Given the description of an element on the screen output the (x, y) to click on. 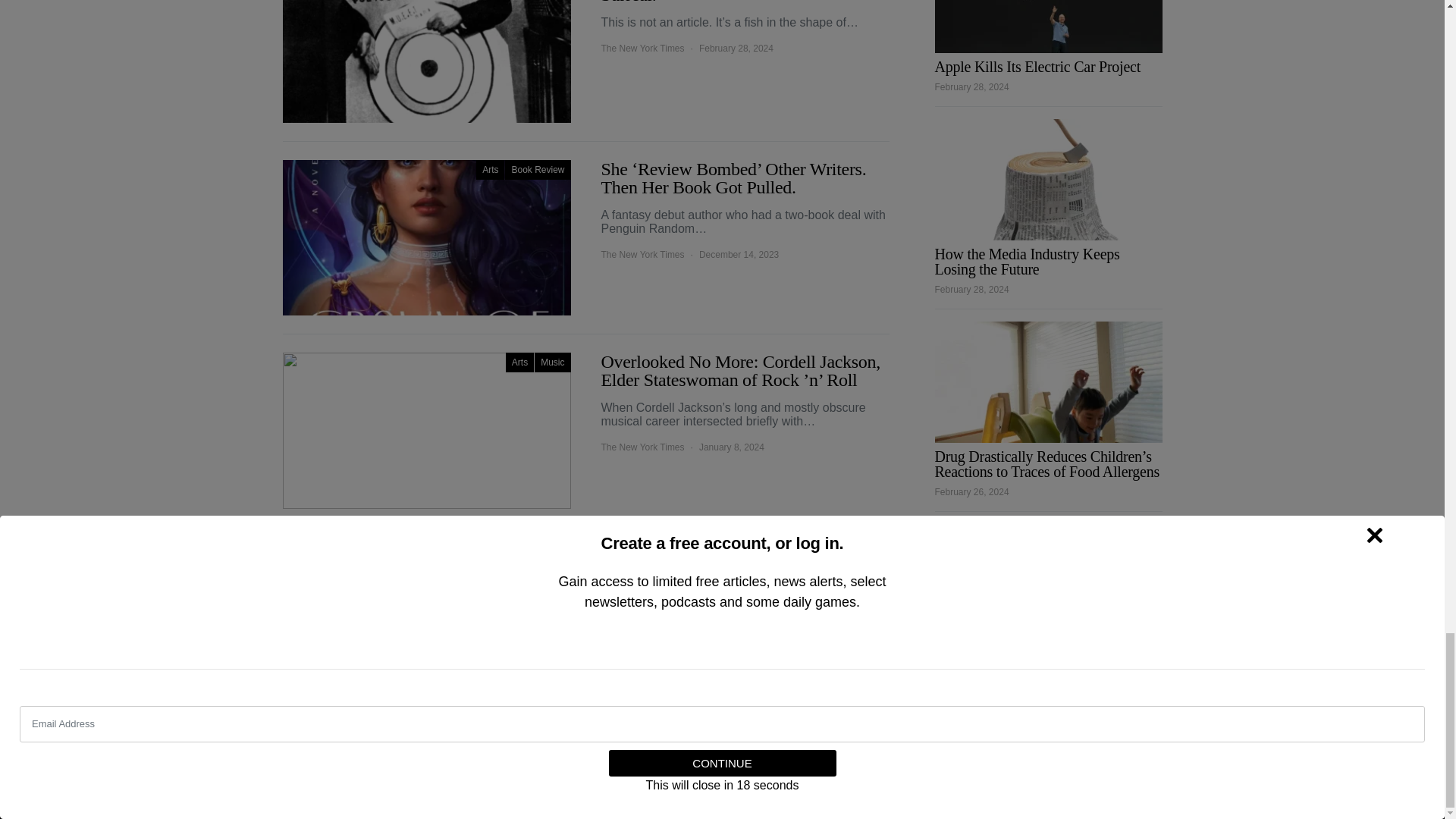
View all posts by The New York Times (641, 48)
View all posts by The New York Times (641, 254)
View all posts by The New York Times (641, 447)
View all posts by The New York Times (641, 622)
